Given the description of an element on the screen output the (x, y) to click on. 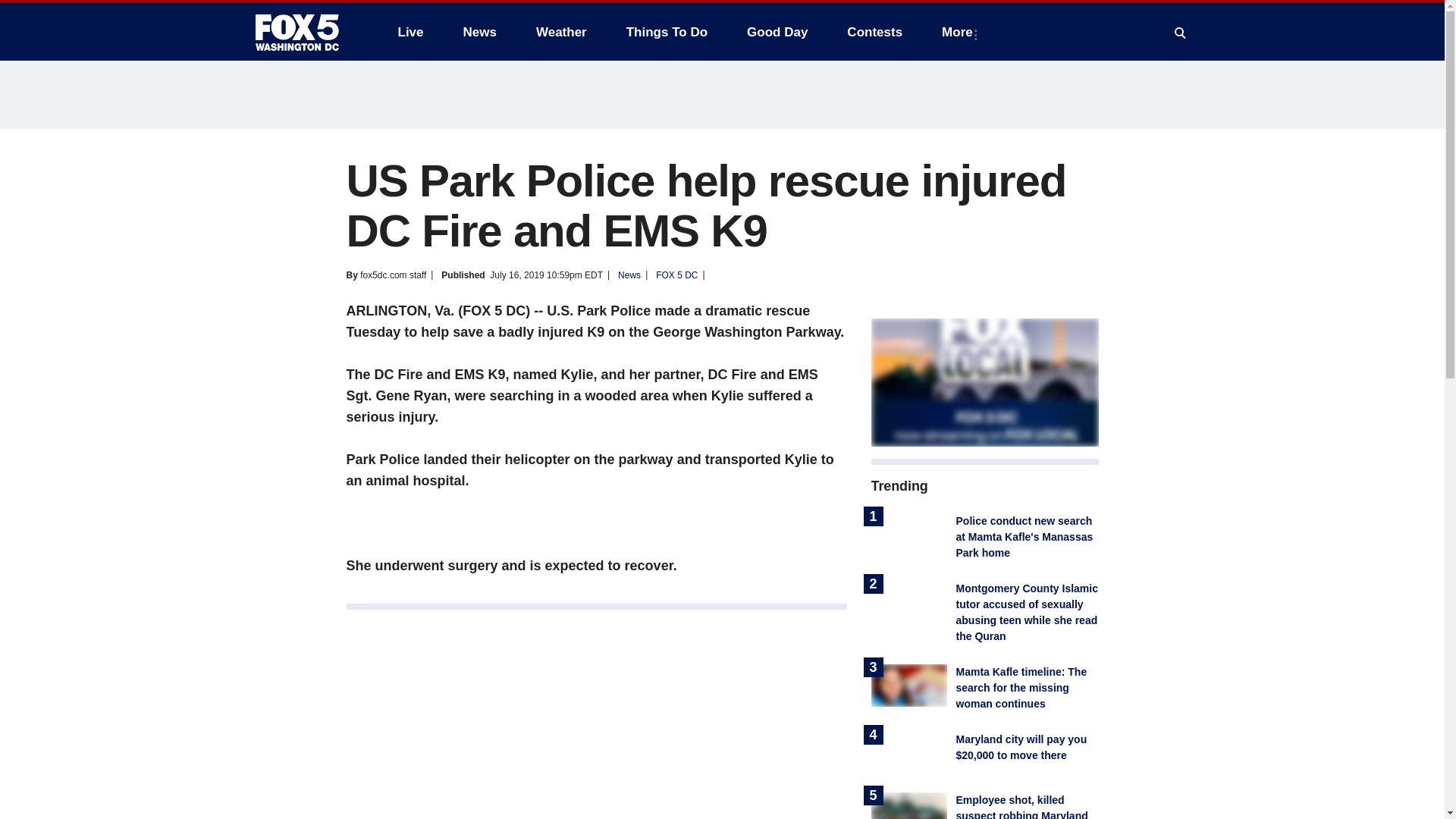
Good Day (777, 32)
Things To Do (666, 32)
News (479, 32)
Contests (874, 32)
Live (410, 32)
Weather (561, 32)
More (960, 32)
